Given the description of an element on the screen output the (x, y) to click on. 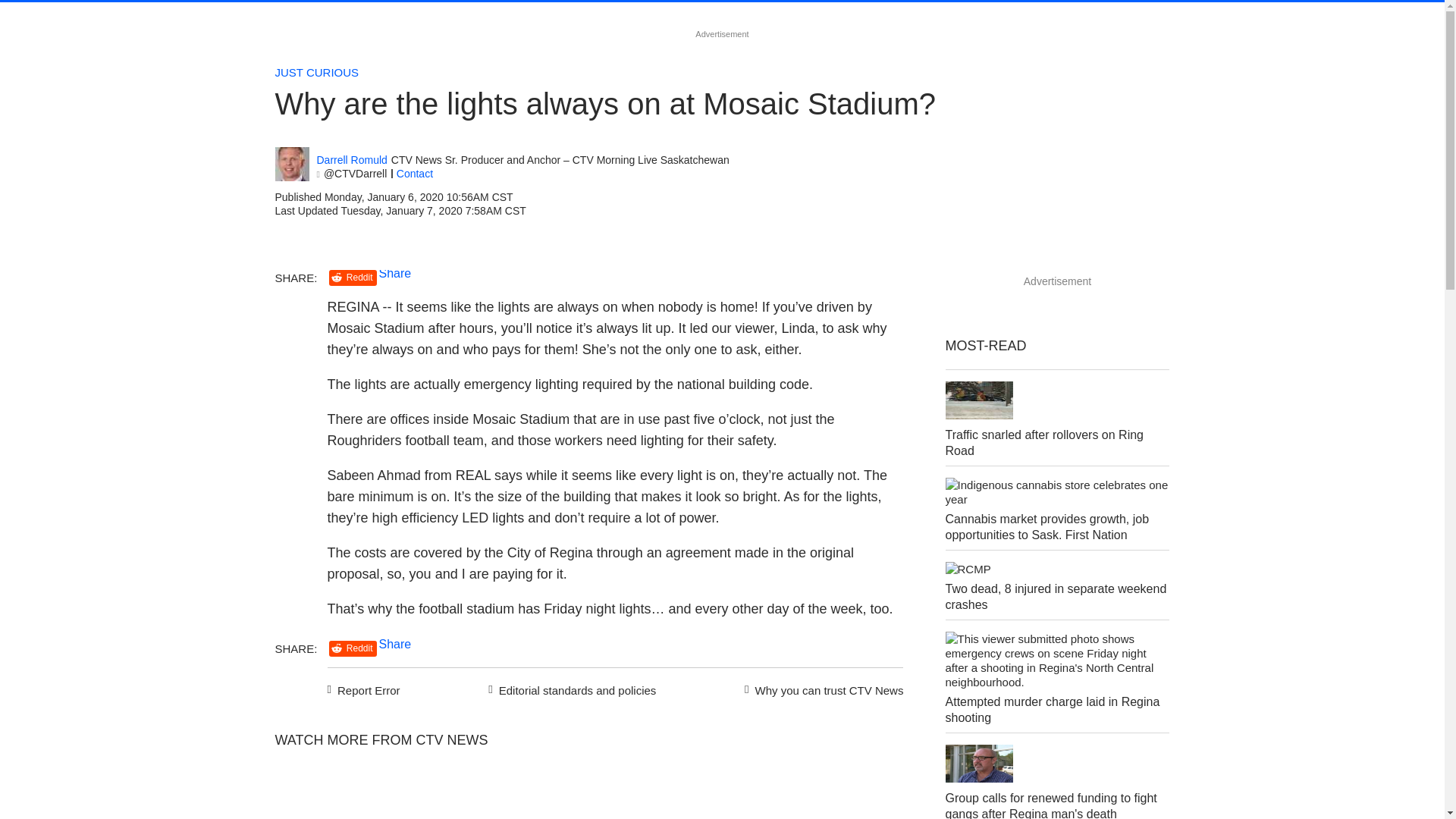
Share (395, 644)
Reddit (353, 648)
Darrell Romuld (352, 160)
Why you can trust CTV News (820, 688)
Editorial standards and policies (569, 688)
Contact (414, 173)
Reddit (353, 277)
JUST CURIOUS (316, 72)
Report Error (363, 688)
Share (395, 273)
